Given the description of an element on the screen output the (x, y) to click on. 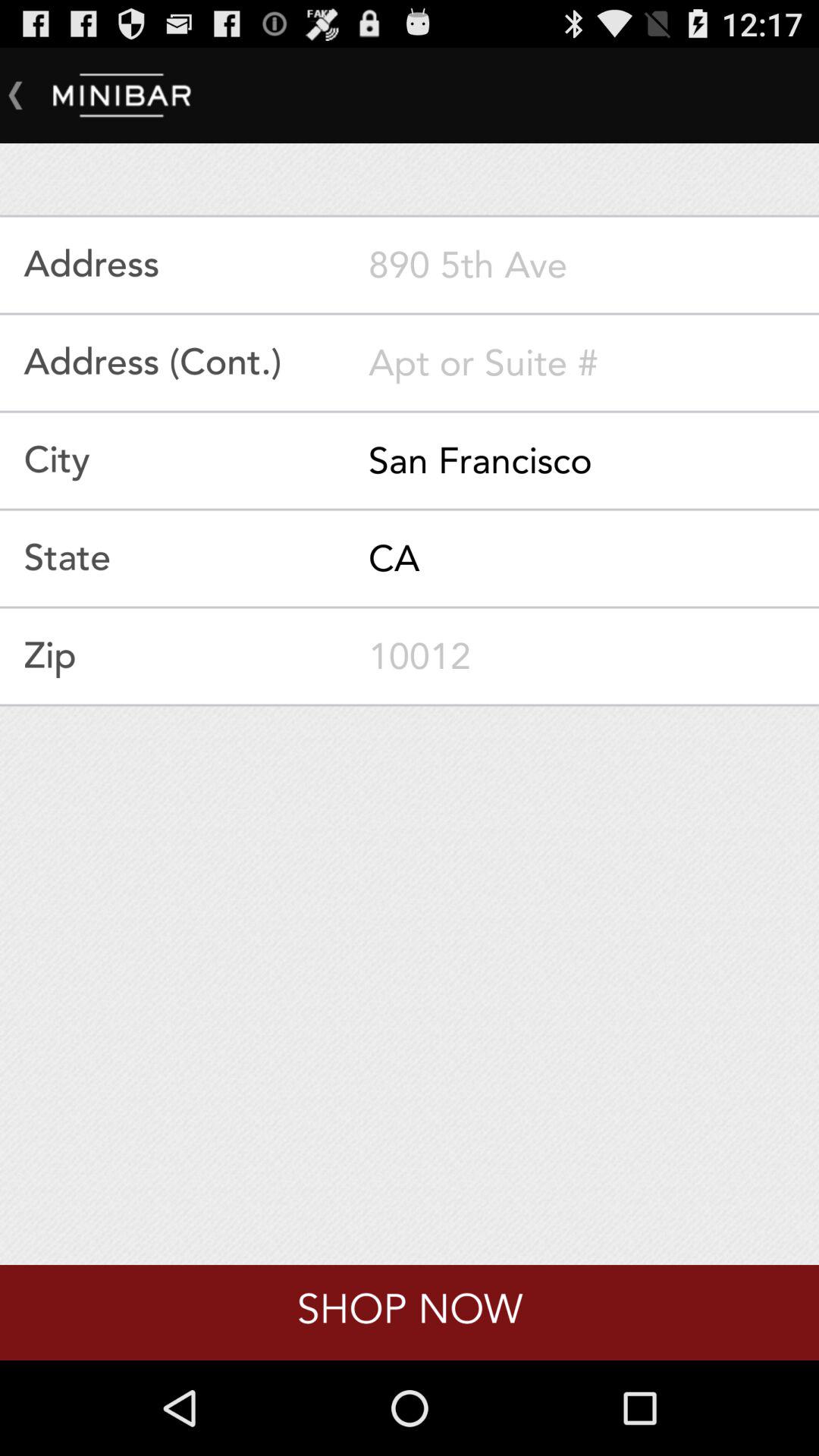
enter your zipcode (593, 656)
